Given the description of an element on the screen output the (x, y) to click on. 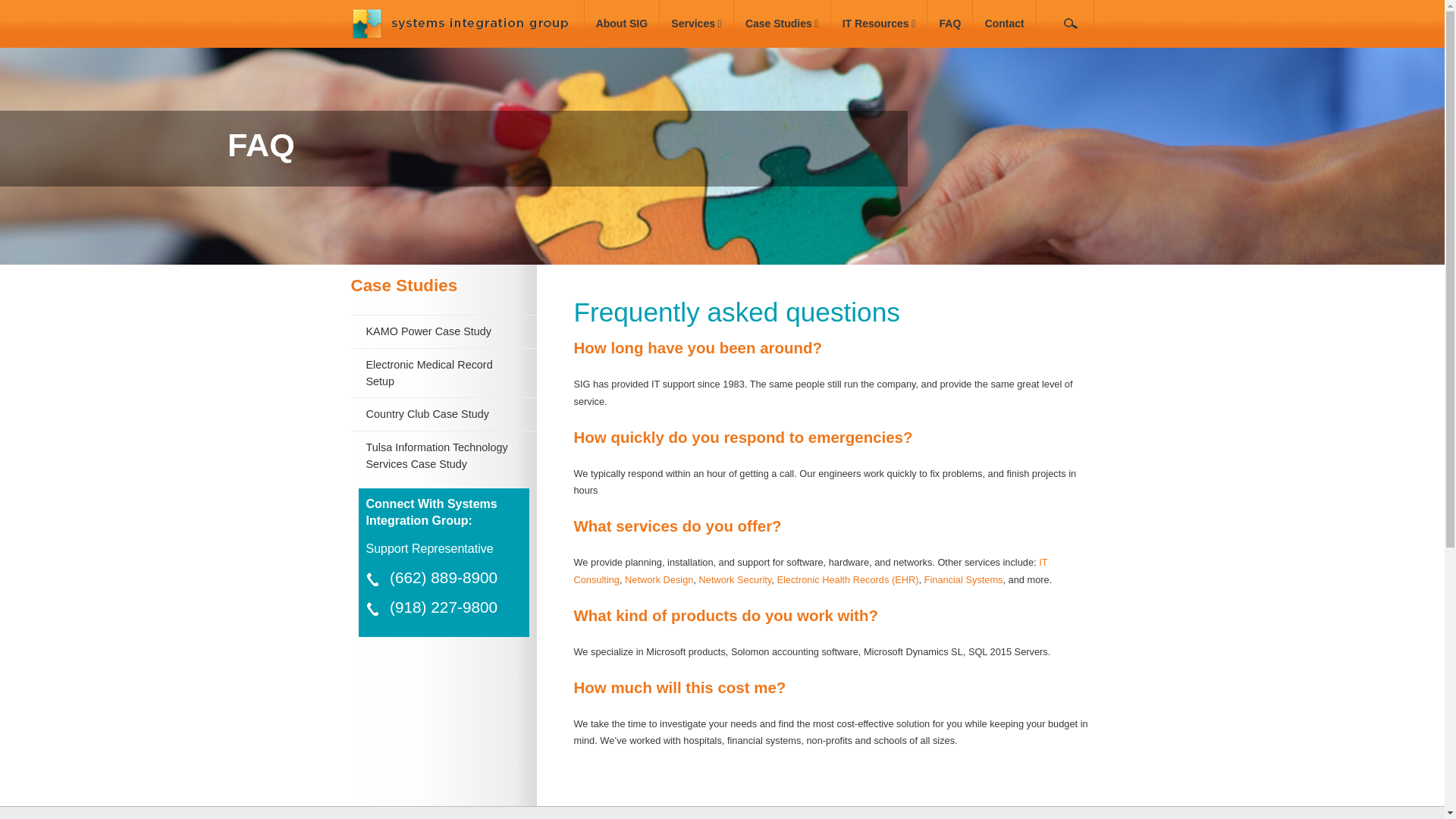
FAQ (949, 23)
KAMO Power Case Study (428, 331)
IT Consulting (809, 570)
Country Club Case Study (426, 413)
About SIG (622, 23)
Network Security (734, 579)
Electronic Medical Record Setup (428, 372)
Contact (1003, 23)
Services (696, 23)
Tulsa Information Technology Services Case Study (435, 455)
Network Design (658, 579)
Financial Systems (963, 579)
Case Studies (782, 23)
IT Resources (878, 23)
